Given the description of an element on the screen output the (x, y) to click on. 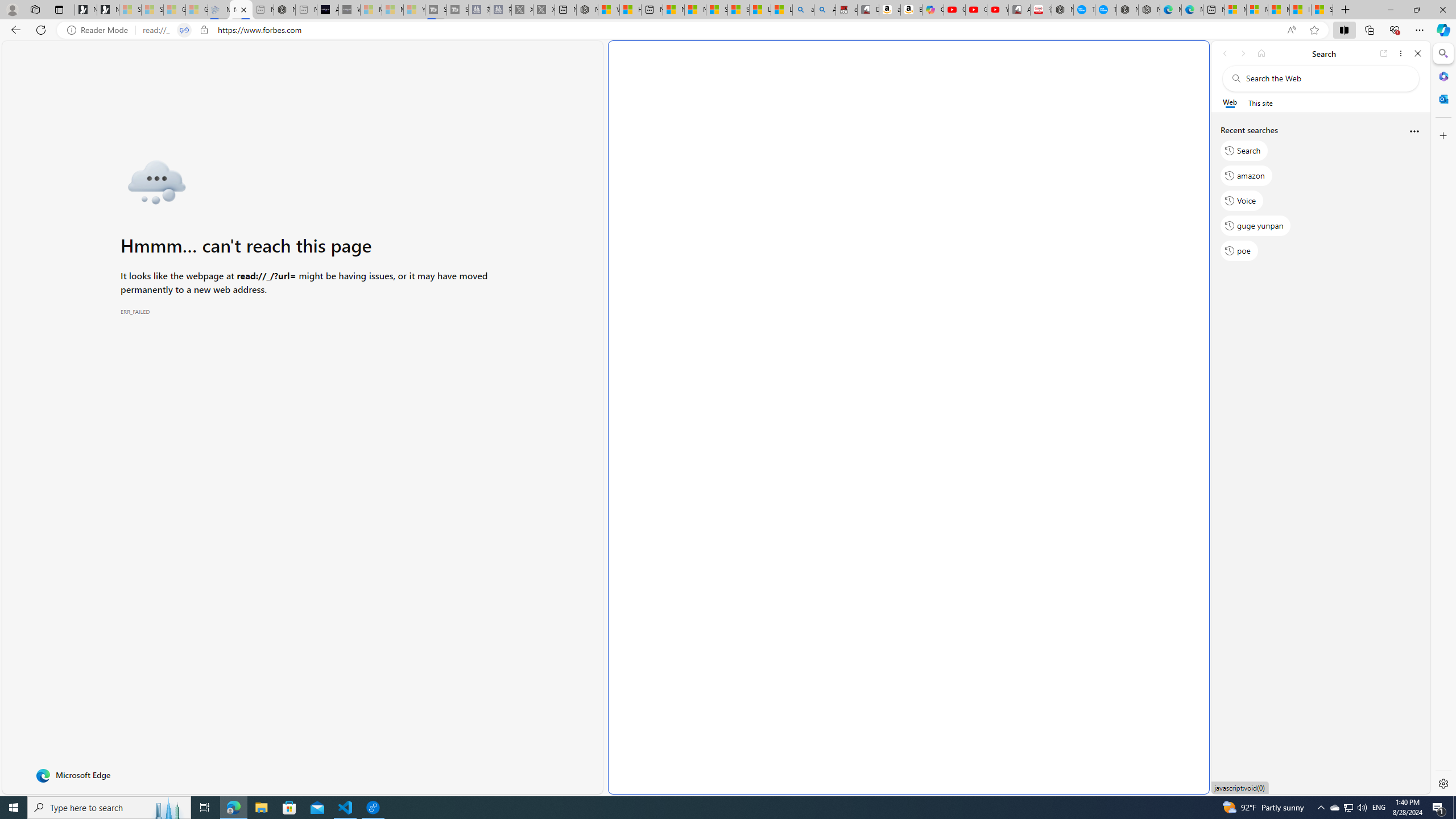
Microsoft Start - Sleeping (392, 9)
Forward (1242, 53)
What's the best AI voice generator? - voice.ai - Sleeping (349, 9)
Search (1244, 150)
Wildlife - MSN (608, 9)
Microsoft Start (1278, 9)
AI Voice Changer for PC and Mac - Voice.ai (327, 9)
